Given the description of an element on the screen output the (x, y) to click on. 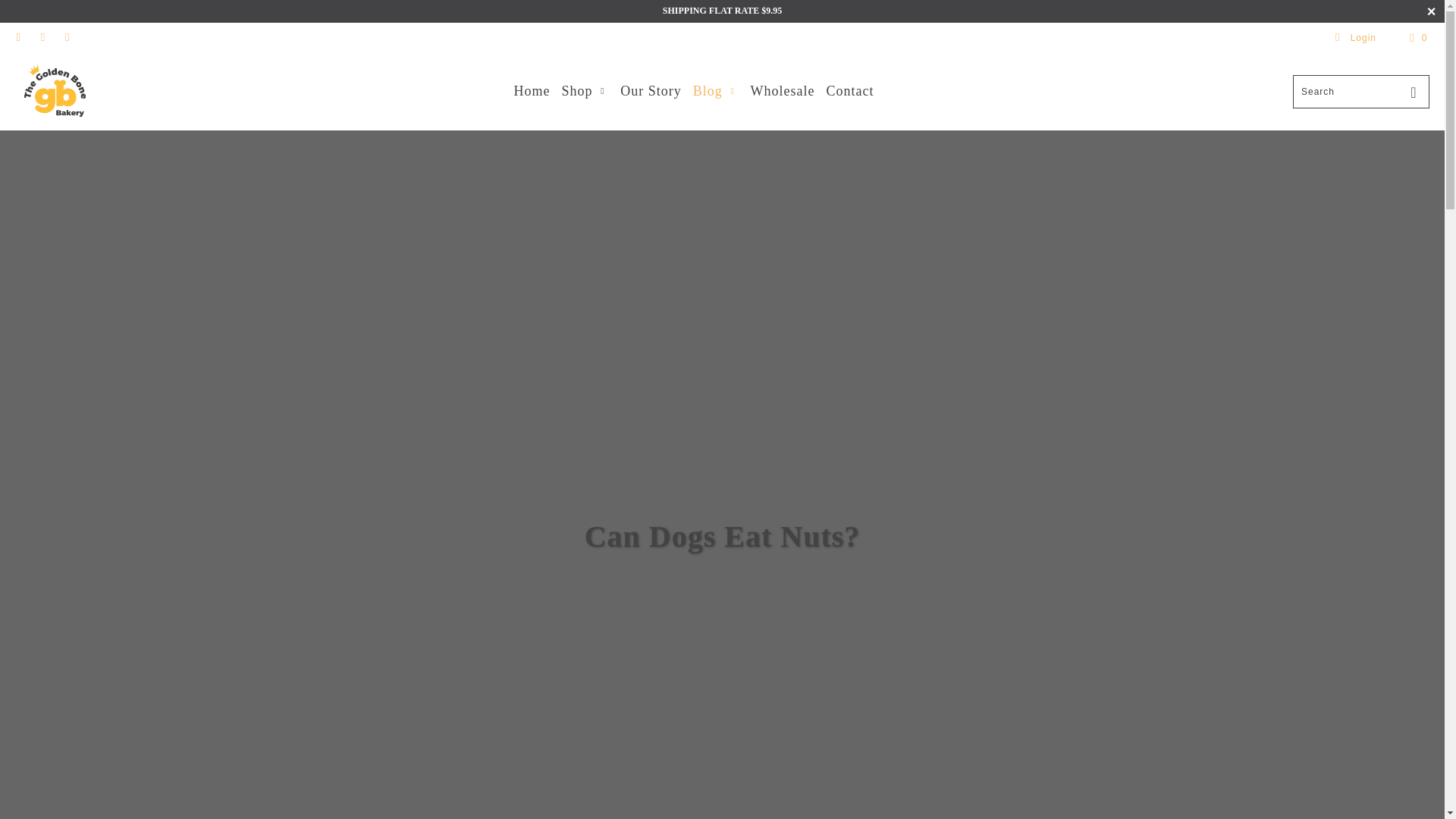
The Golden Bone Bakery on YouTube (41, 37)
The Golden Bone Bakery (54, 91)
The Golden Bone Bakery on Instagram (67, 37)
The Golden Bone Bakery on Facebook (17, 37)
My Account  (1355, 37)
